Given the description of an element on the screen output the (x, y) to click on. 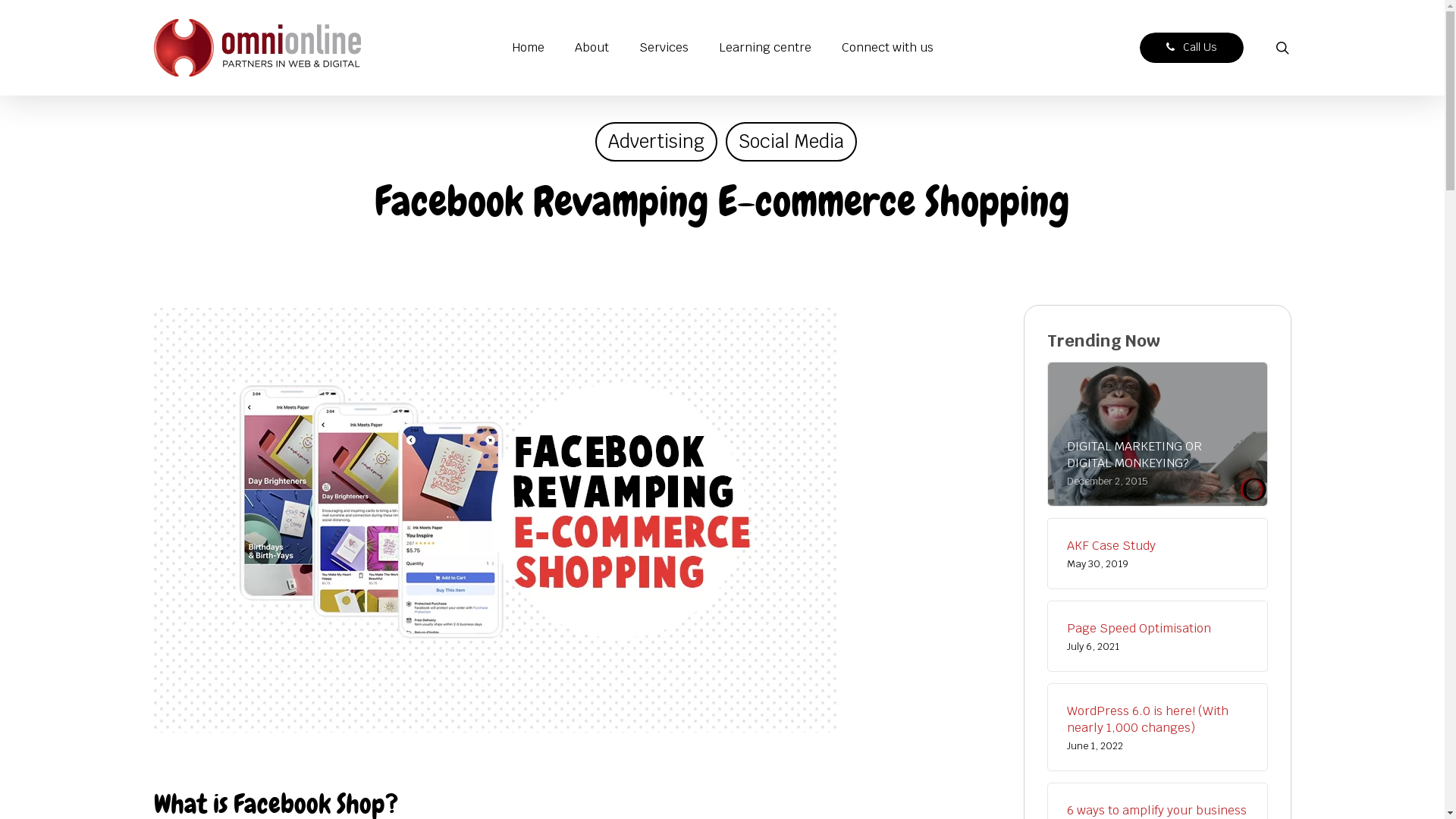
DIGITAL MARKETING OR DIGITAL MONKEYING?
December 2, 2015 Element type: text (1157, 462)
AKF Case Study
May 30, 2019 Element type: text (1157, 553)
Home Element type: text (527, 48)
Learning centre Element type: text (764, 48)
Social Media Element type: text (790, 141)
Advertising Element type: text (655, 141)
  C
a
l
l
  U
s Element type: text (1190, 47)
Services Element type: text (662, 48)
Connect with us Element type: text (887, 48)
Page Speed Optimisation
July 6, 2021 Element type: text (1157, 636)
About Element type: text (591, 48)
search Element type: text (1281, 47)
